Given the description of an element on the screen output the (x, y) to click on. 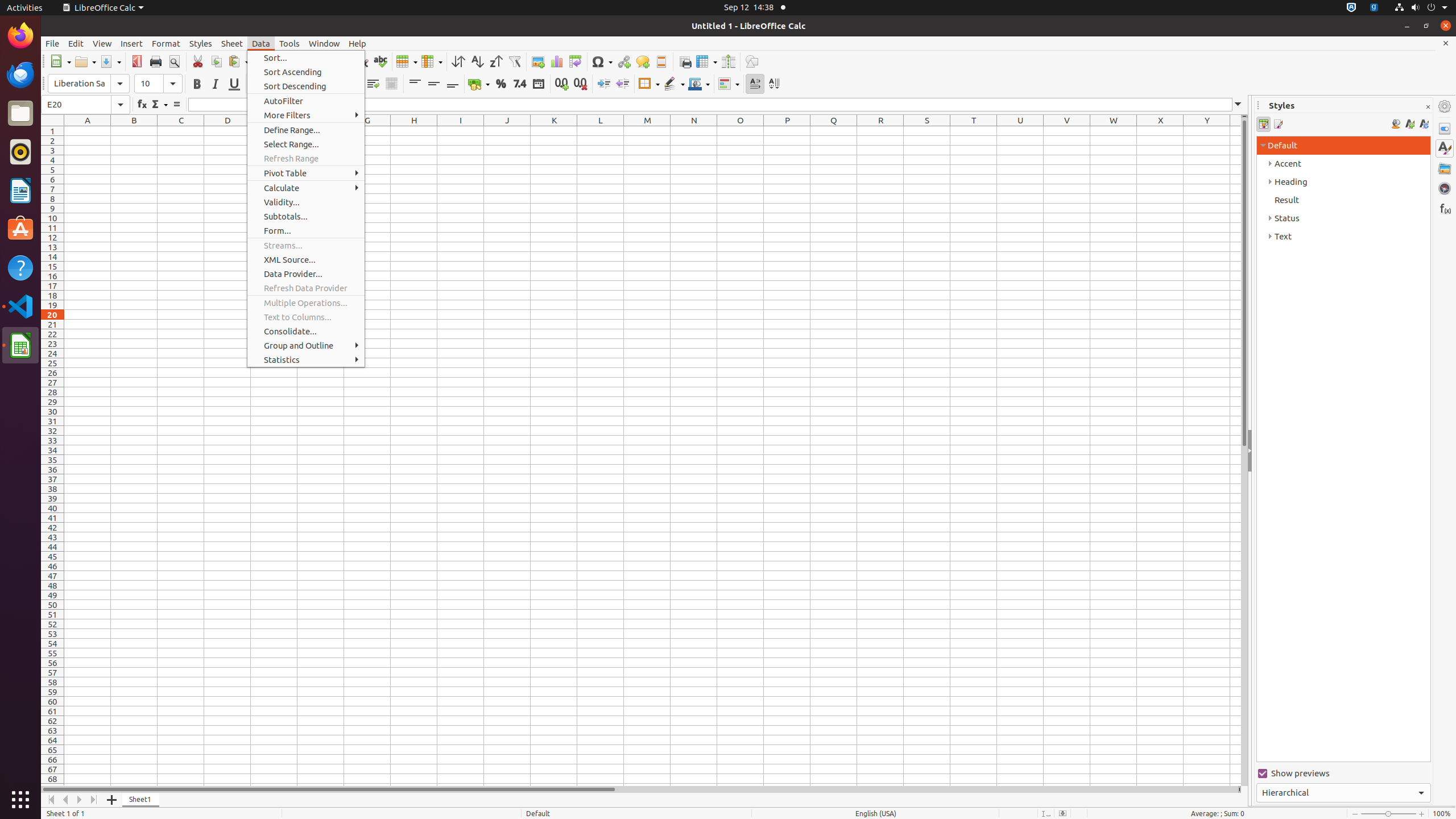
Sort Element type: push-button (457, 61)
XML Source... Element type: menu-item (305, 259)
Spelling Element type: push-button (379, 61)
Select Range... Element type: menu-item (305, 144)
N1 Element type: table-cell (693, 130)
